Given the description of an element on the screen output the (x, y) to click on. 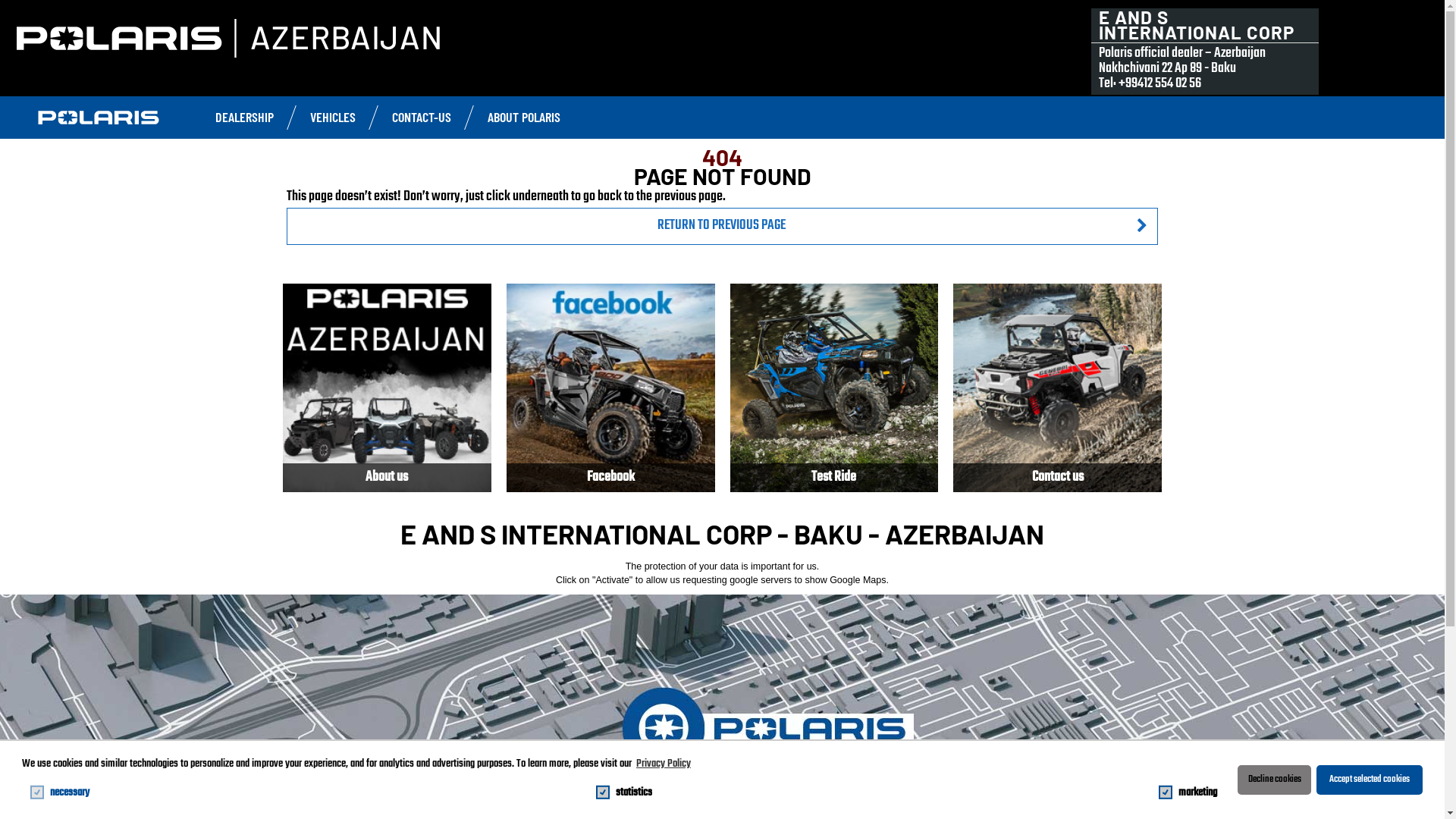
Contact us Element type: text (1057, 387)
Decline cookies Element type: text (1274, 780)
Facebook Element type: text (610, 387)
Facebook Element type: hover (610, 387)
Accept selected cookies Element type: text (1369, 780)
RETURN TO PREVIOUS PAGE Element type: text (721, 225)
Test Ride Element type: text (833, 387)
VEHICLES Element type: text (332, 116)
DEALERSHIP Element type: text (244, 116)
About us Element type: text (386, 387)
ABOUT POLARIS Element type: text (523, 116)
About us Element type: hover (386, 387)
CONTACT-US Element type: text (421, 116)
Test Ride Element type: hover (833, 387)
Privacy Policy Element type: text (663, 764)
Contact us Element type: hover (1057, 387)
